Given the description of an element on the screen output the (x, y) to click on. 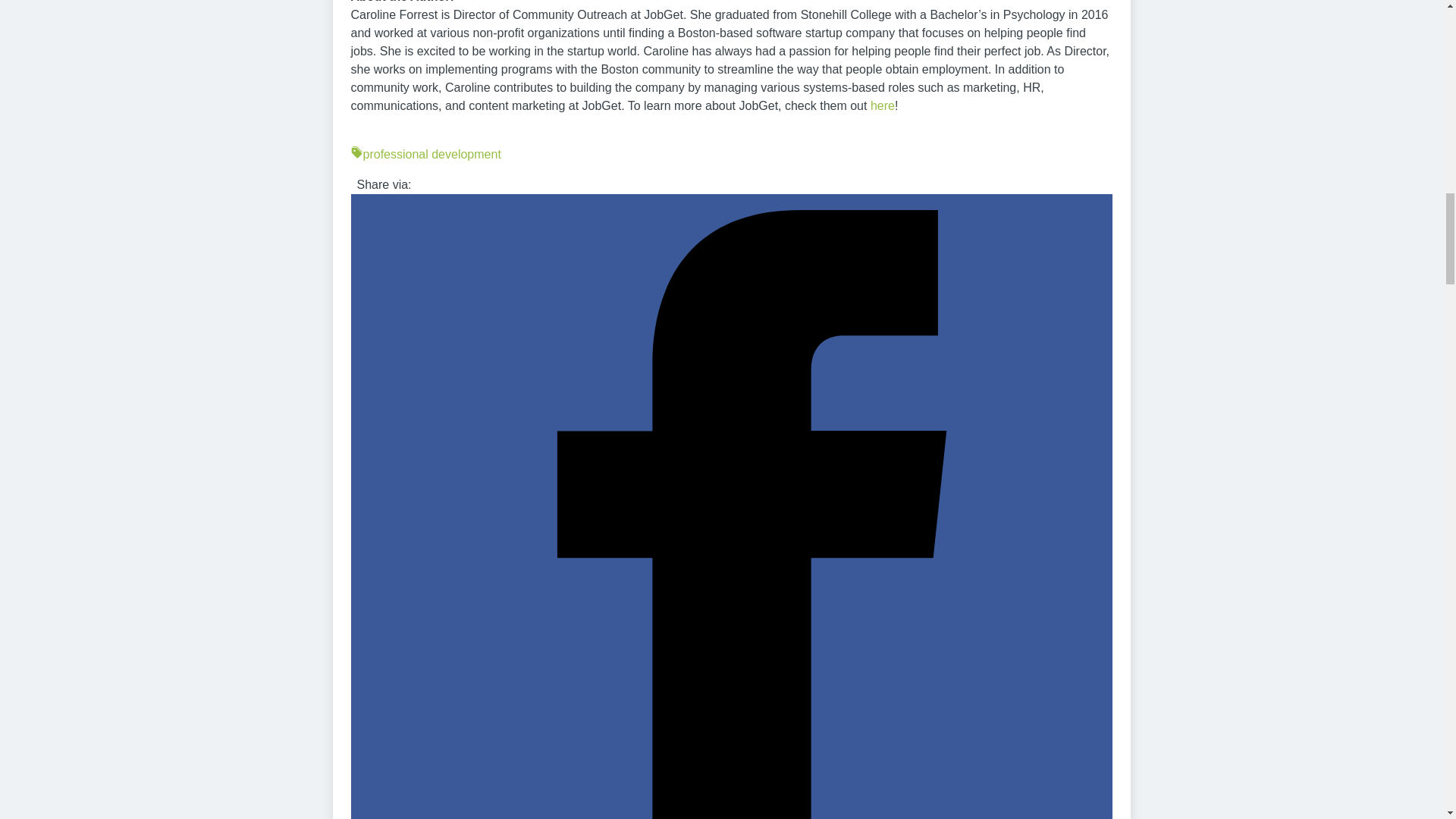
here (882, 105)
professional development (731, 154)
